Given the description of an element on the screen output the (x, y) to click on. 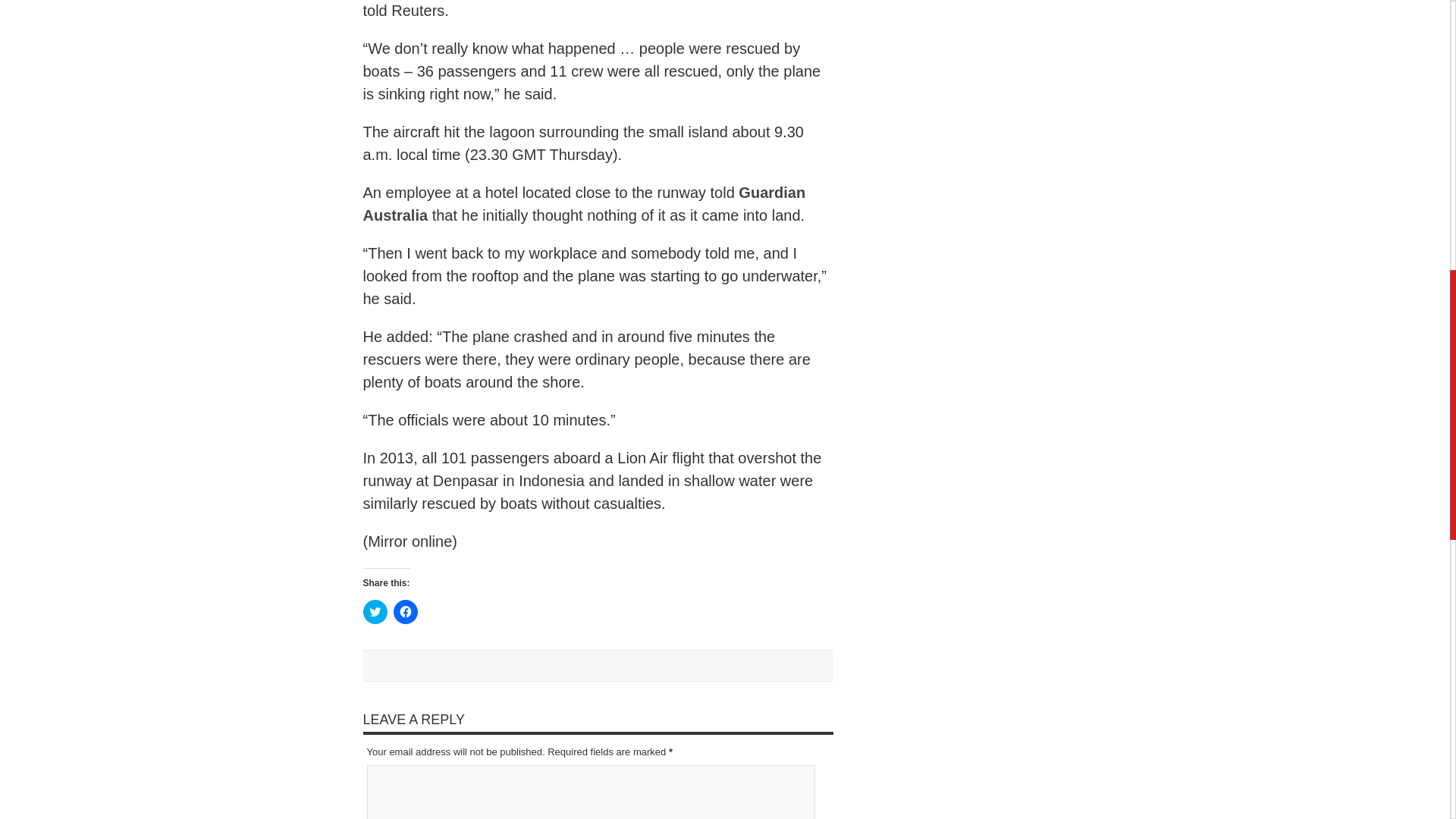
Click to share on Twitter (374, 611)
Guardian Australia (583, 203)
Click to share on Facebook (404, 611)
